Given the description of an element on the screen output the (x, y) to click on. 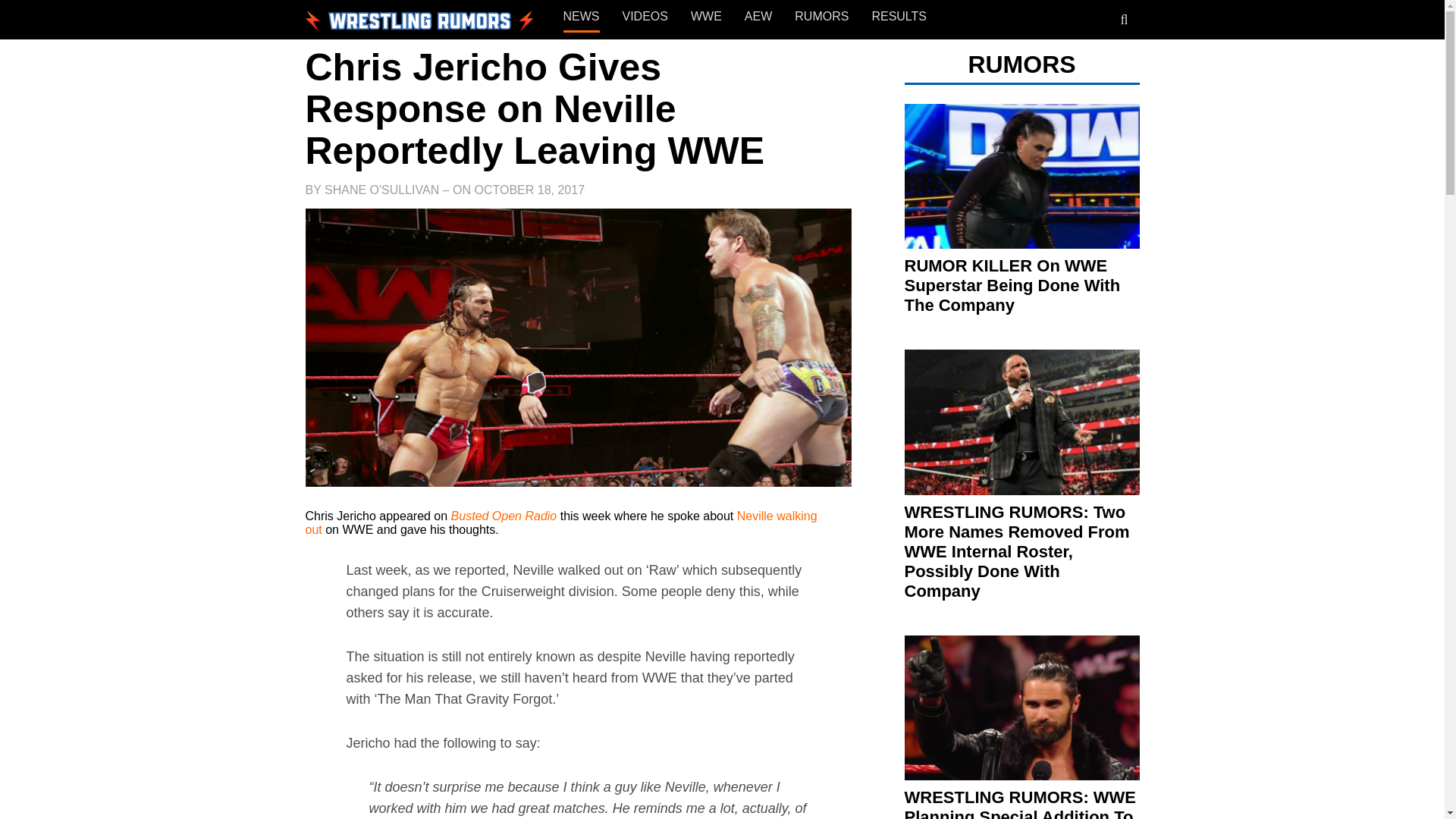
VIDEOS (643, 16)
Neville walking out  (560, 522)
WWE (706, 16)
NEWS (580, 16)
RUMORS (821, 16)
RESULTS (898, 16)
Busted Open Radio  (505, 515)
